Given the description of an element on the screen output the (x, y) to click on. 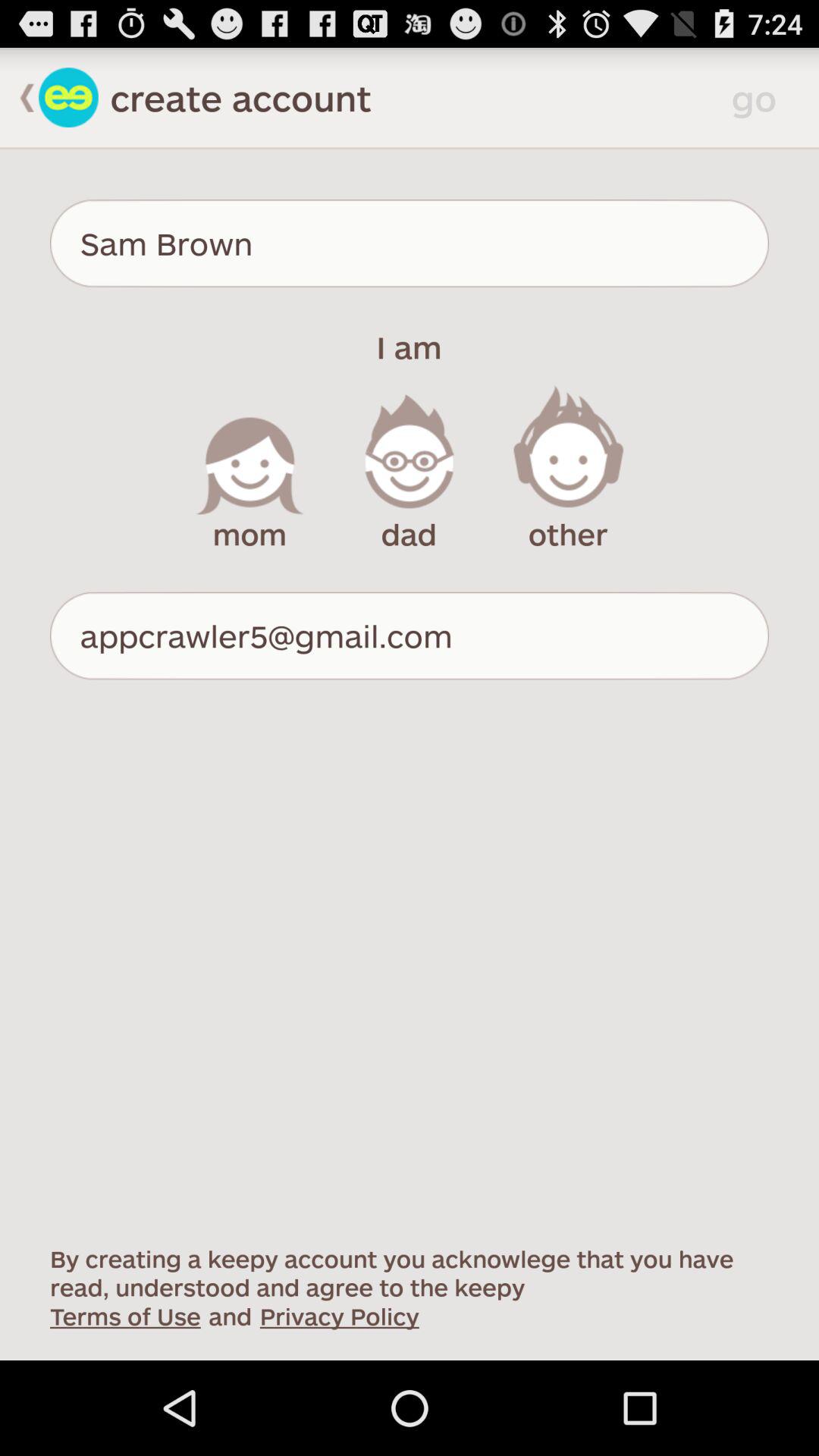
go to previous (19, 97)
